Given the description of an element on the screen output the (x, y) to click on. 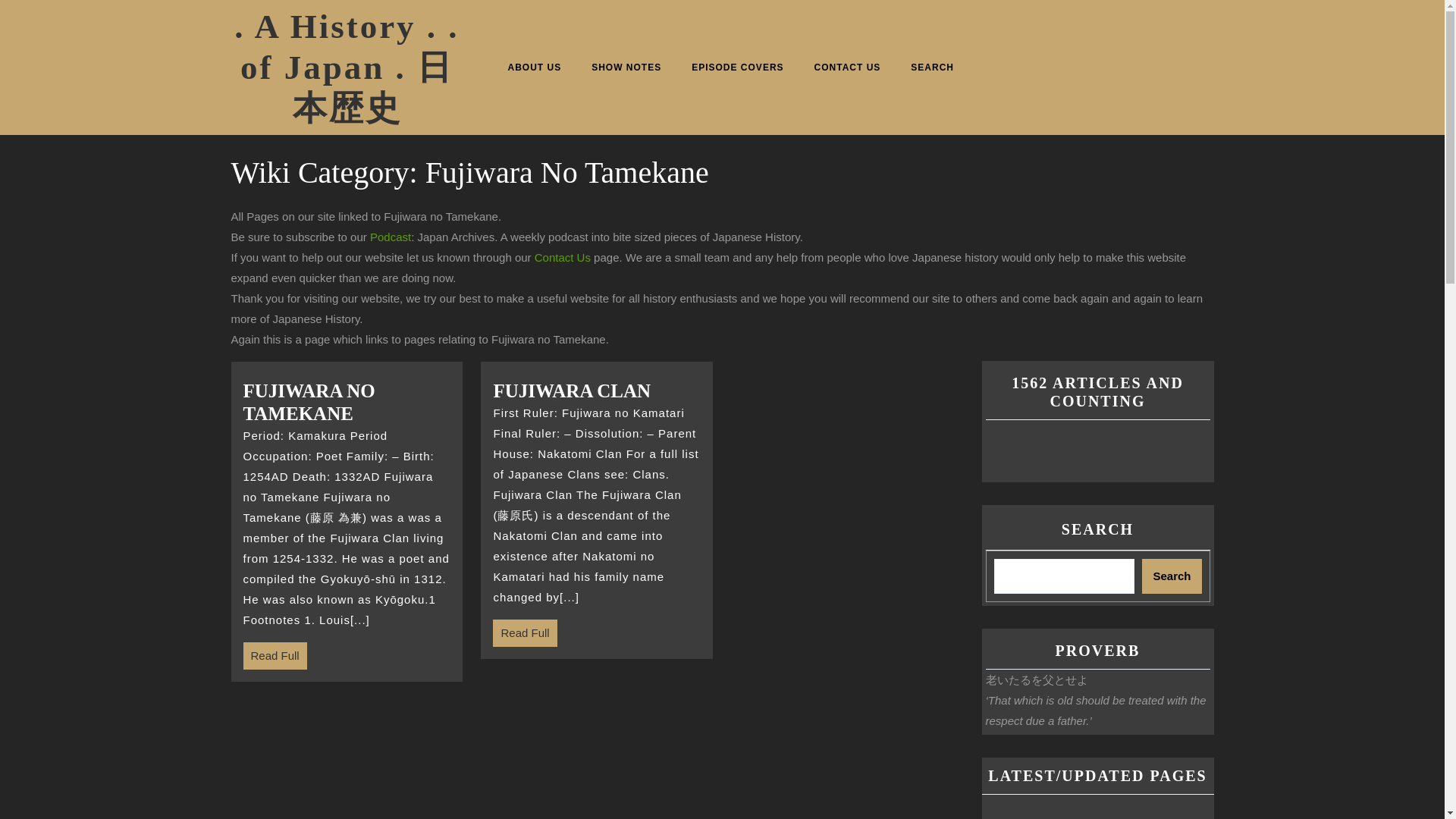
SHOW NOTES (626, 67)
ABOUT US (534, 67)
Read Full (524, 633)
Read Full (274, 656)
CONTACT US (847, 67)
Search (1171, 576)
FUJIWARA NO TAMEKANE (346, 402)
Contact Us (562, 256)
Podcast (389, 236)
SEARCH (932, 67)
EPISODE COVERS (737, 67)
FUJIWARA CLAN (596, 391)
